Given the description of an element on the screen output the (x, y) to click on. 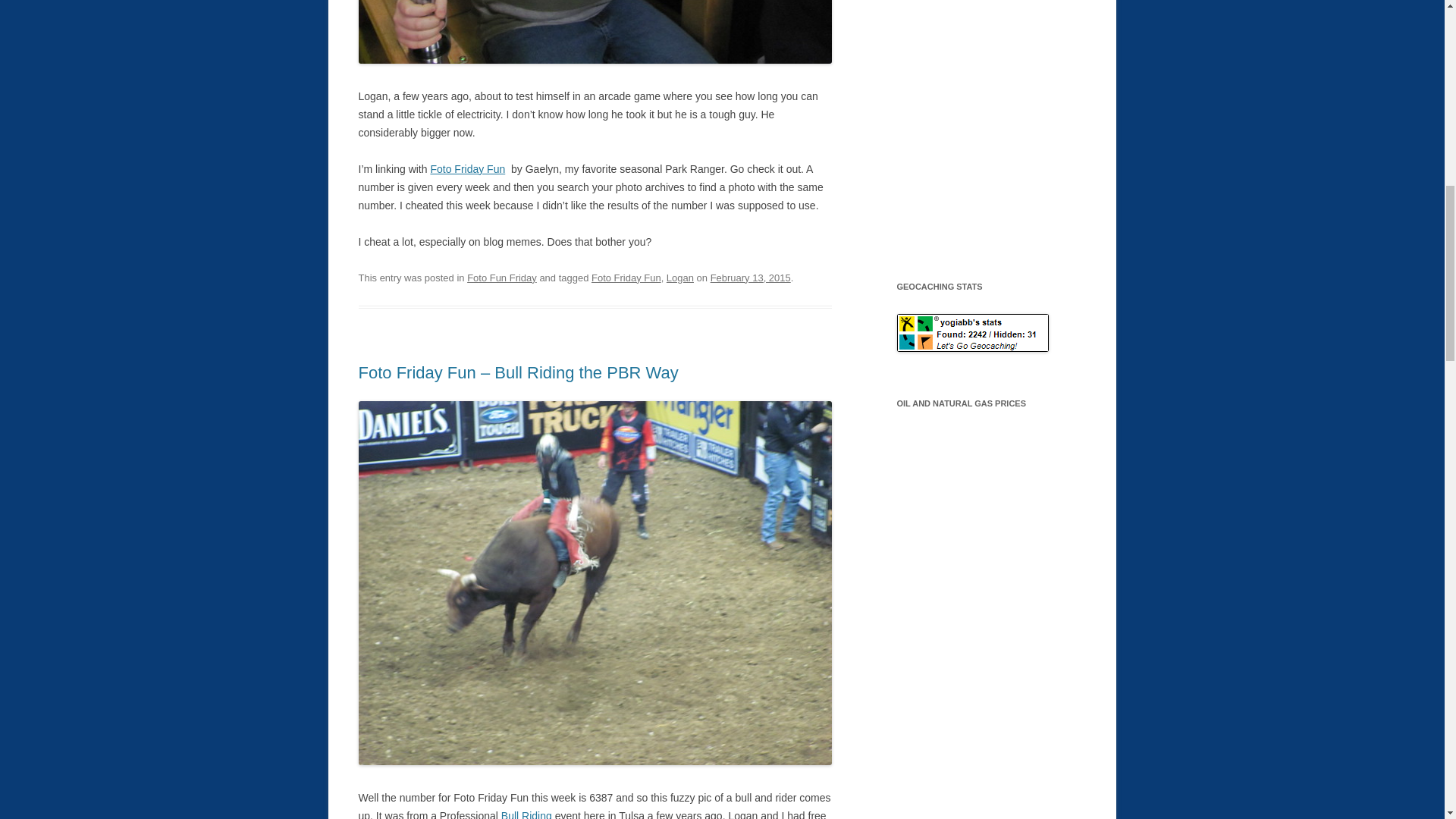
Foto Friday Fun (467, 168)
Bull Riding (525, 814)
8:04 pm (750, 277)
Logan (680, 277)
February 13, 2015 (750, 277)
Foto Fun Friday (502, 277)
Foto Friday Fun (626, 277)
Bull riding (525, 814)
